Given the description of an element on the screen output the (x, y) to click on. 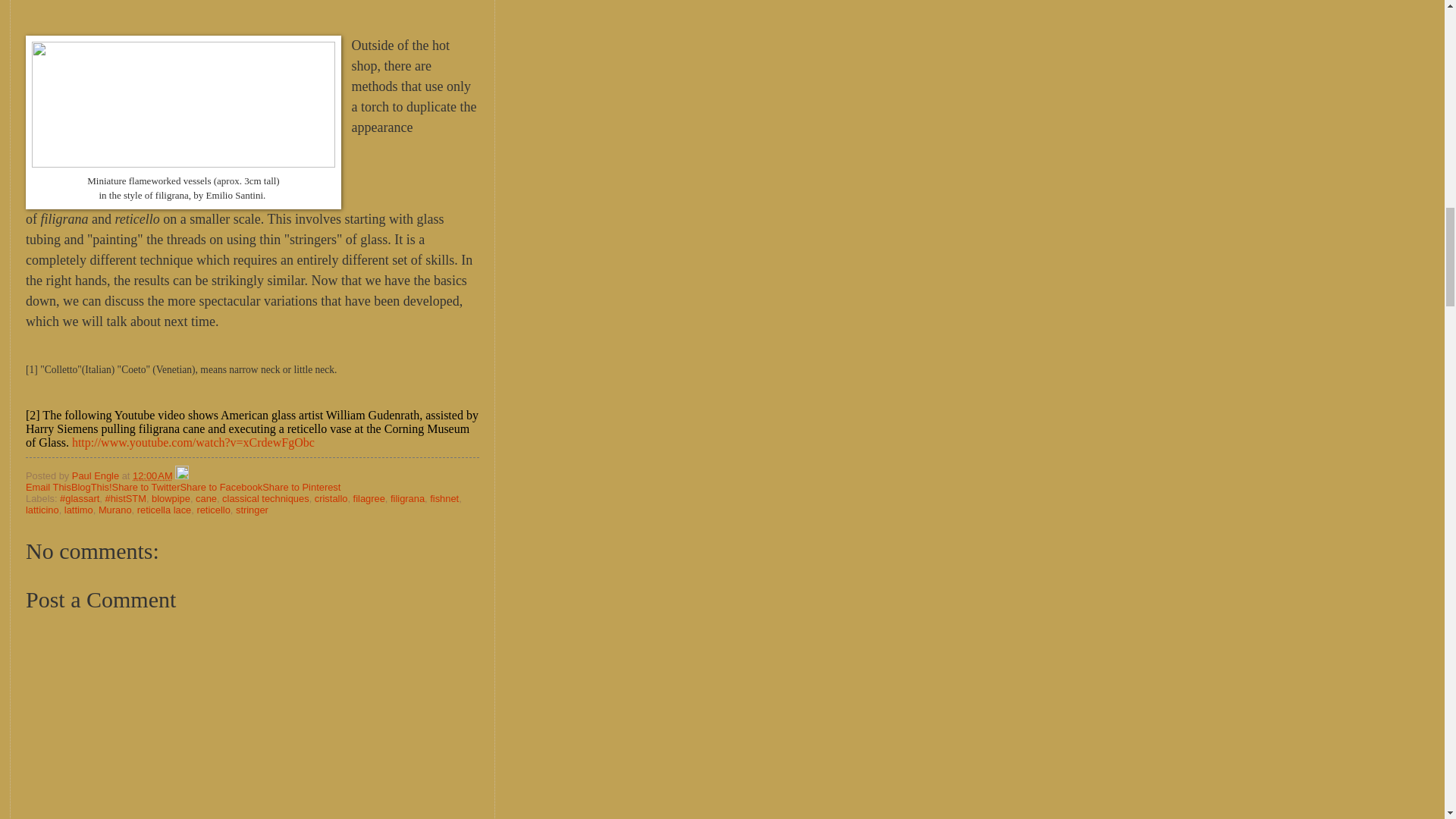
blowpipe (170, 498)
stringer (251, 509)
Email This (48, 487)
Paul Engle (96, 475)
Share to Pinterest (301, 487)
Share to Facebook (220, 487)
BlogThis! (91, 487)
permanent link (152, 475)
cristallo (330, 498)
filagree (369, 498)
latticino (42, 509)
reticello (213, 509)
Email This (48, 487)
BlogThis! (91, 487)
Share to Twitter (146, 487)
